Given the description of an element on the screen output the (x, y) to click on. 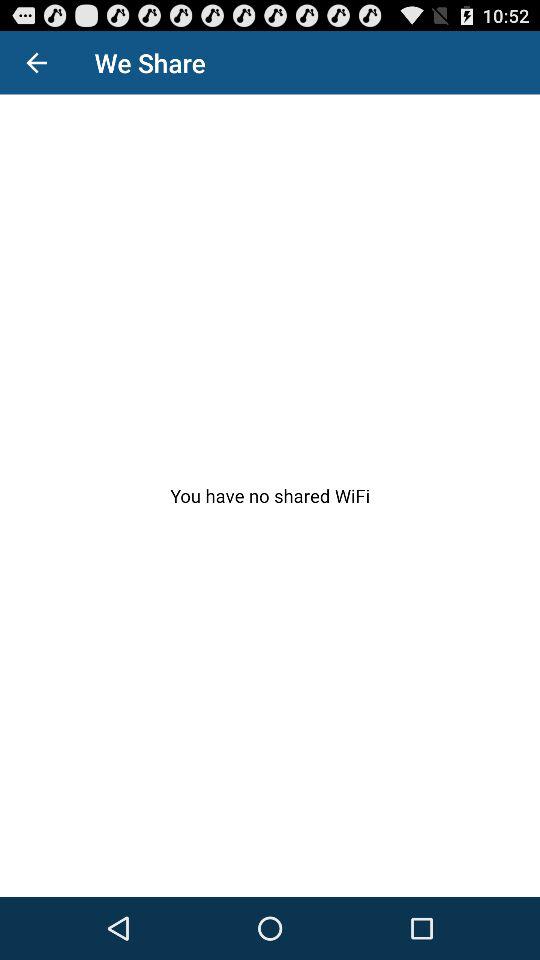
choose icon to the left of the we share item (36, 62)
